Given the description of an element on the screen output the (x, y) to click on. 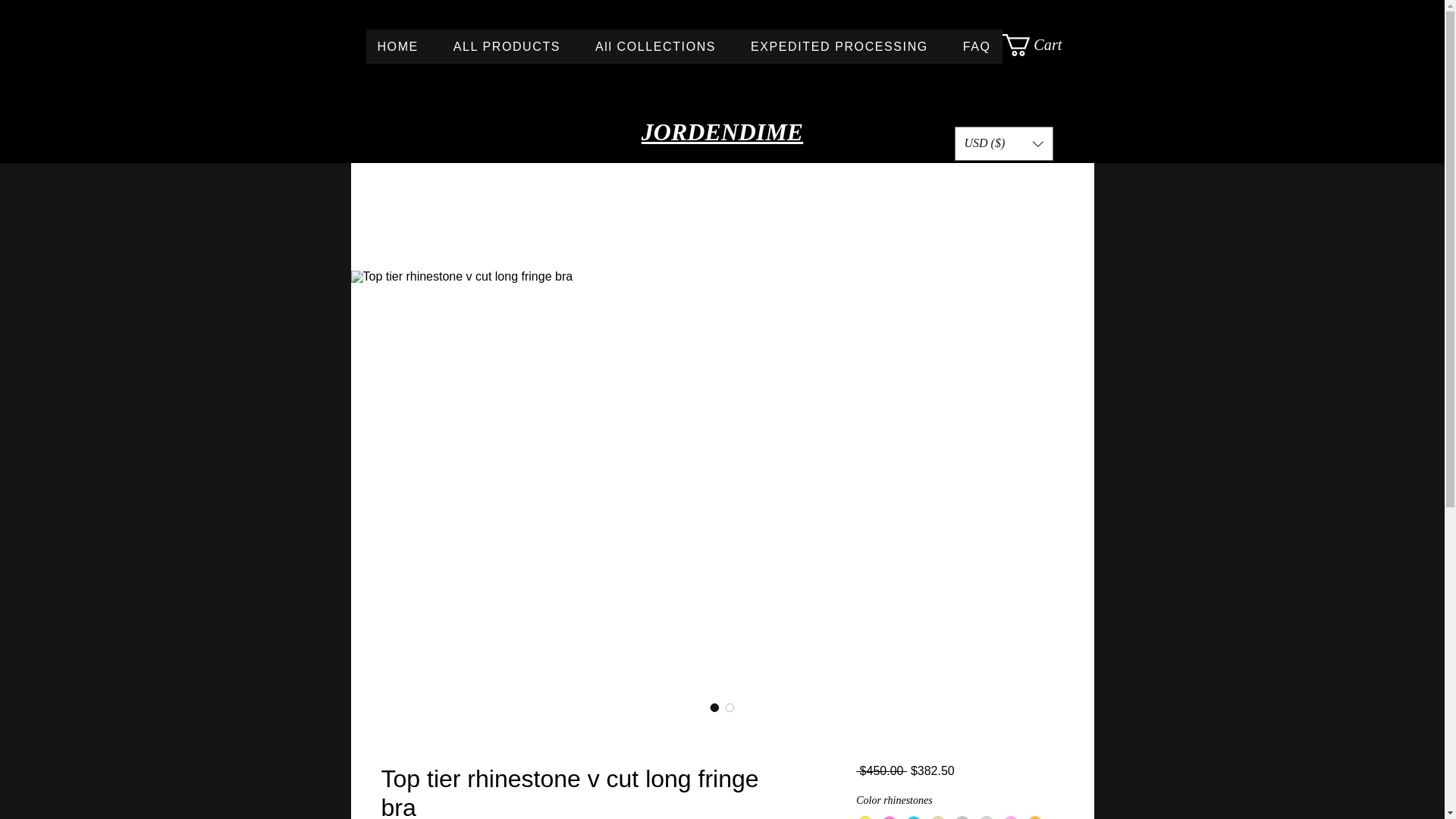
FAQ (977, 46)
EXPEDITED PROCESSING (839, 46)
ALL PRODUCTS (507, 46)
Cart (683, 46)
Cart (1043, 45)
All COLLECTIONS (1043, 45)
HOME (654, 46)
